Given the description of an element on the screen output the (x, y) to click on. 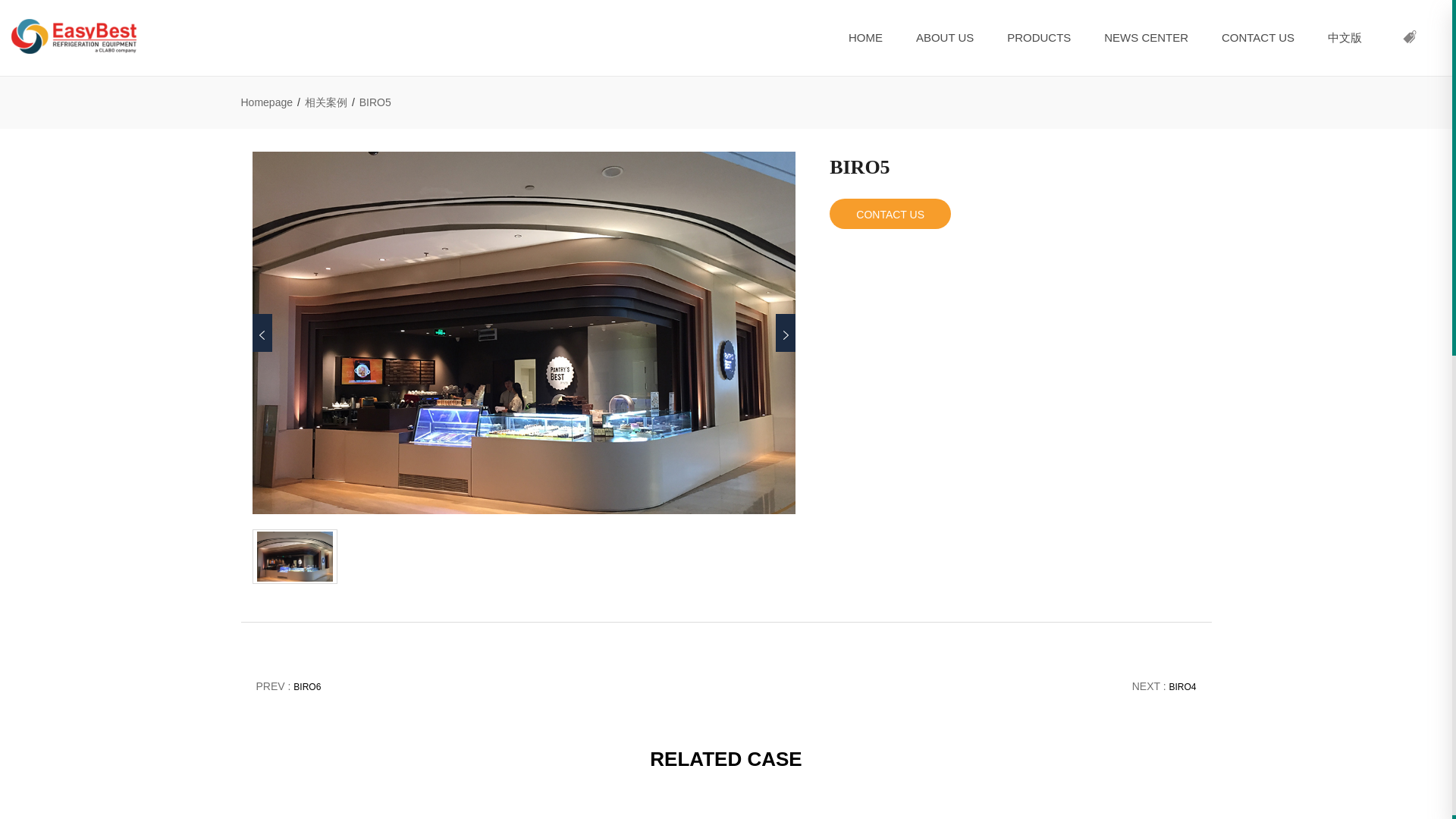
BIRO5 (295, 556)
NEXT : BIRO4 (1164, 686)
PREV : BIRO6 (288, 686)
Click to see the big picture (522, 331)
CONTACT US (889, 214)
Homepage (267, 102)
ABOUT US (944, 38)
logo (73, 36)
PRODUCTS (1038, 38)
